Given the description of an element on the screen output the (x, y) to click on. 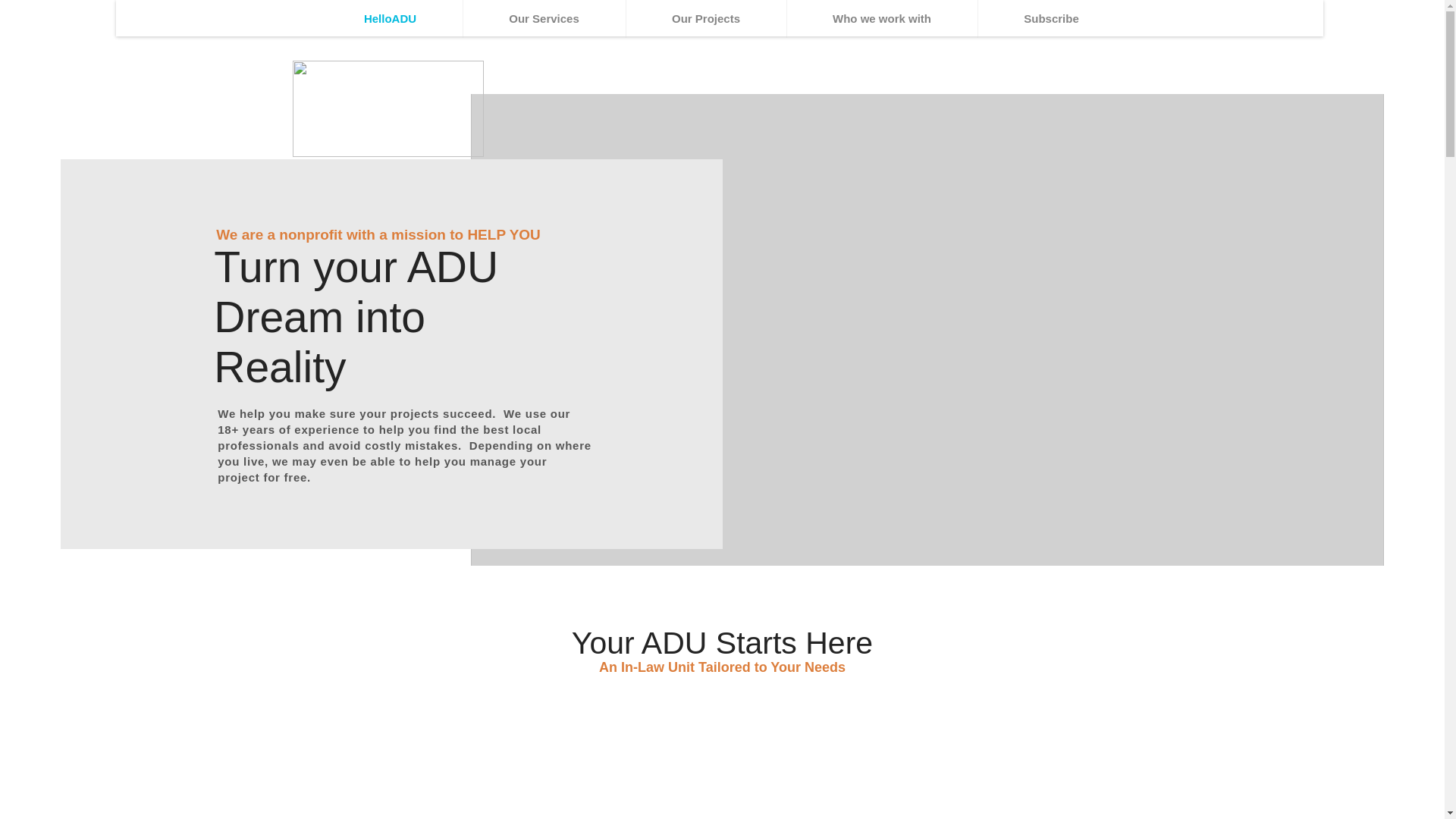
Subscribe (1026, 18)
HelloADU (417, 18)
Our Projects (708, 18)
Subscribe (1051, 18)
HelloADU (390, 18)
Our Projects (706, 18)
Our Services (543, 18)
Our Services (559, 18)
